Given the description of an element on the screen output the (x, y) to click on. 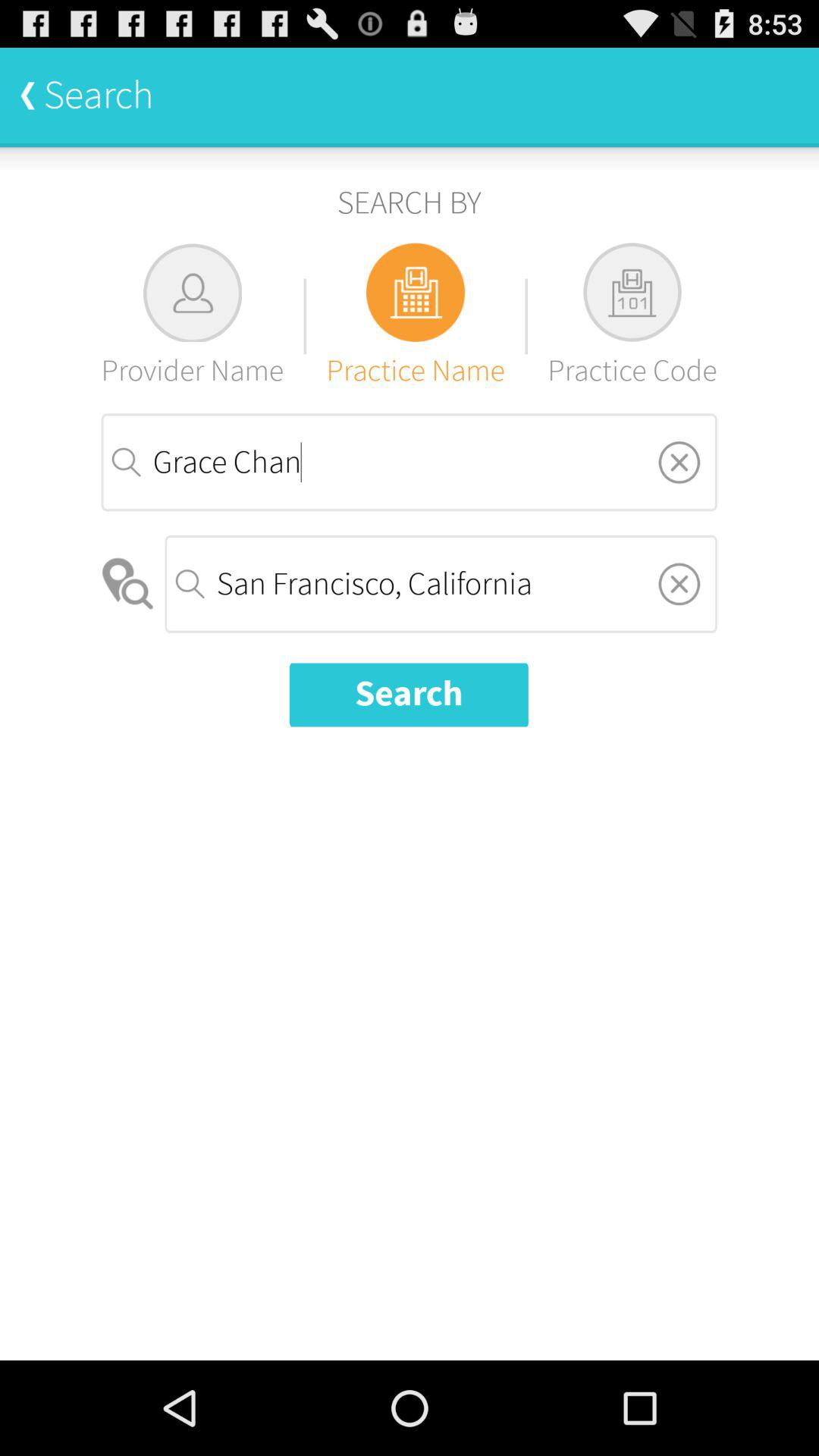
press the icon below the search by item (415, 315)
